Given the description of an element on the screen output the (x, y) to click on. 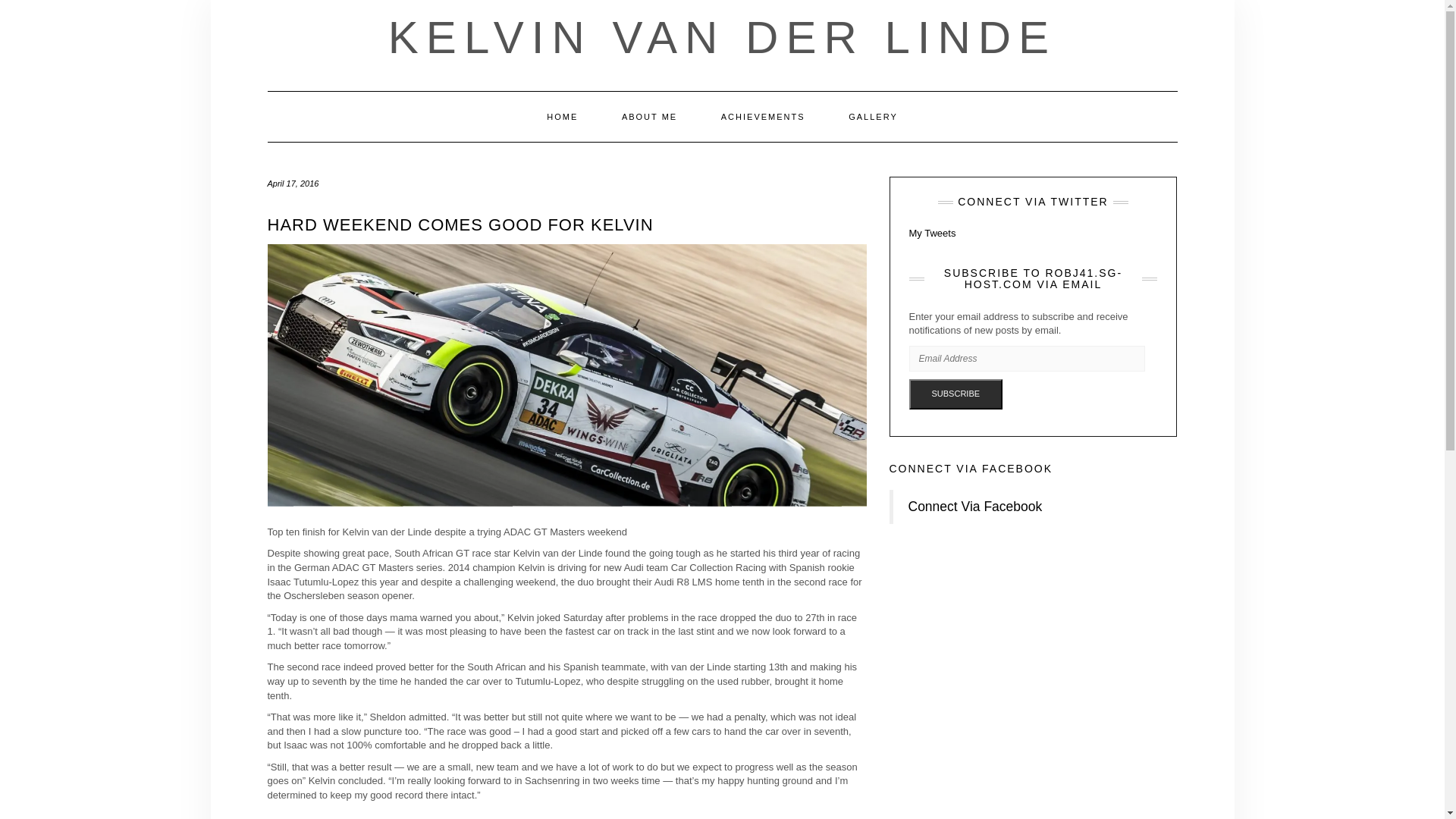
KELVIN VAN DER LINDE (722, 37)
HOME (561, 116)
Connect Via Facebook (975, 506)
My Tweets (931, 233)
GALLERY (873, 116)
CONNECT VIA FACEBOOK (970, 468)
SUBSCRIBE (955, 394)
ACHIEVEMENTS (762, 116)
ABOUT ME (649, 116)
